Given the description of an element on the screen output the (x, y) to click on. 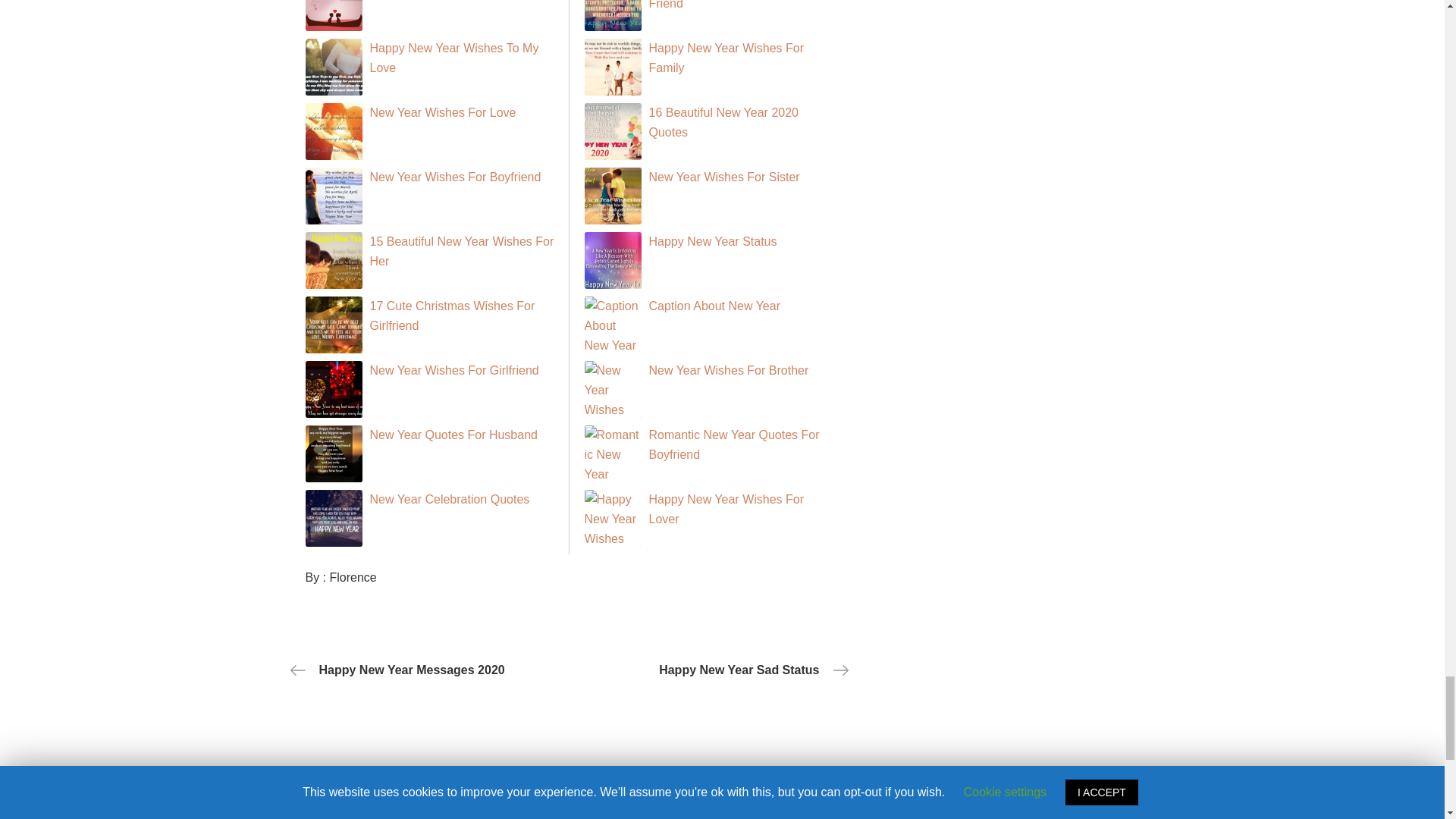
New Year Wishes For Love (442, 112)
15 Beautiful New Year Wishes For Her (461, 251)
Happy New Year Wishes To My Love (453, 57)
New Year Wishes For Boyfriend (455, 176)
